Given the description of an element on the screen output the (x, y) to click on. 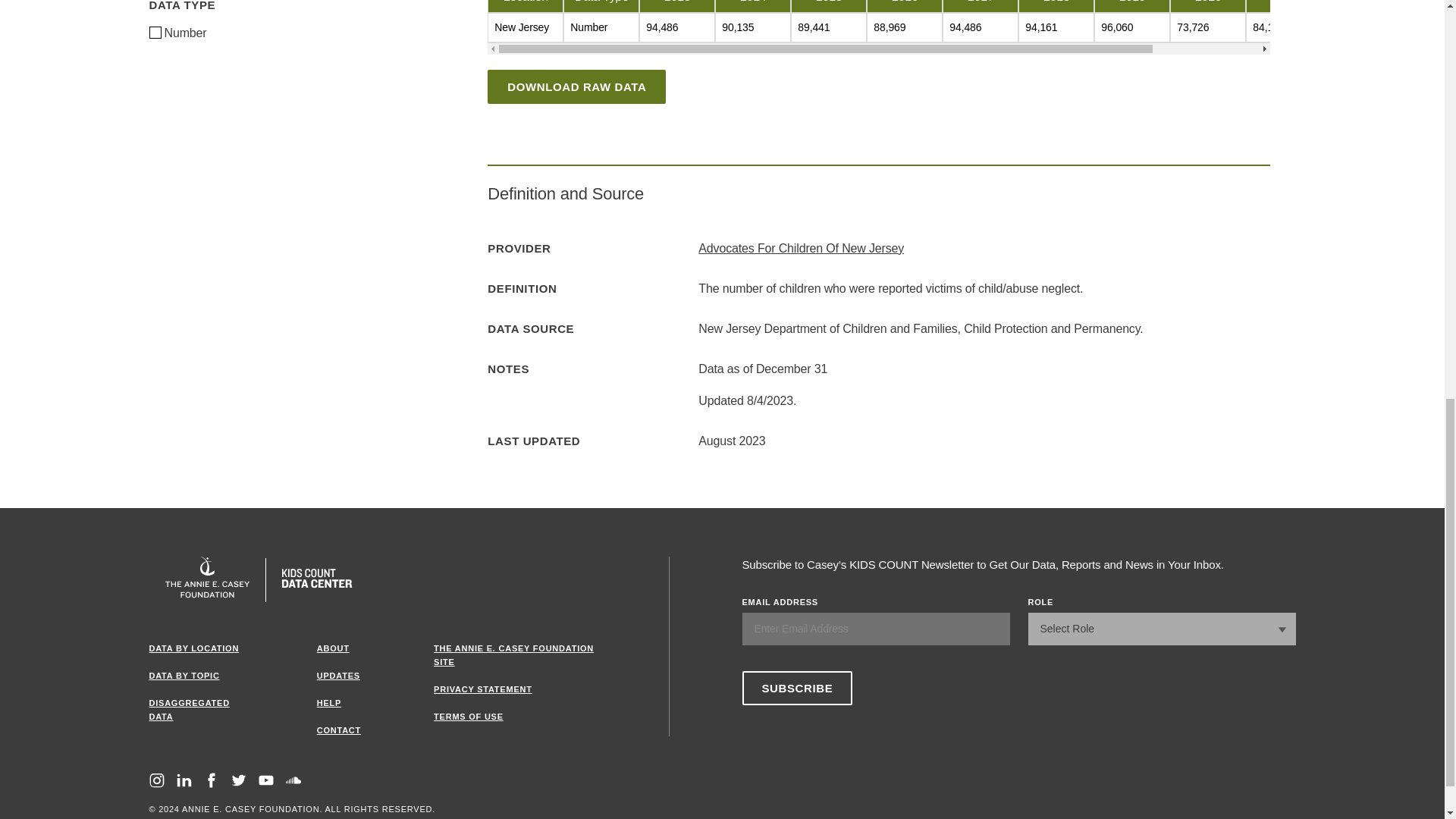
12138 (154, 31)
